Given the description of an element on the screen output the (x, y) to click on. 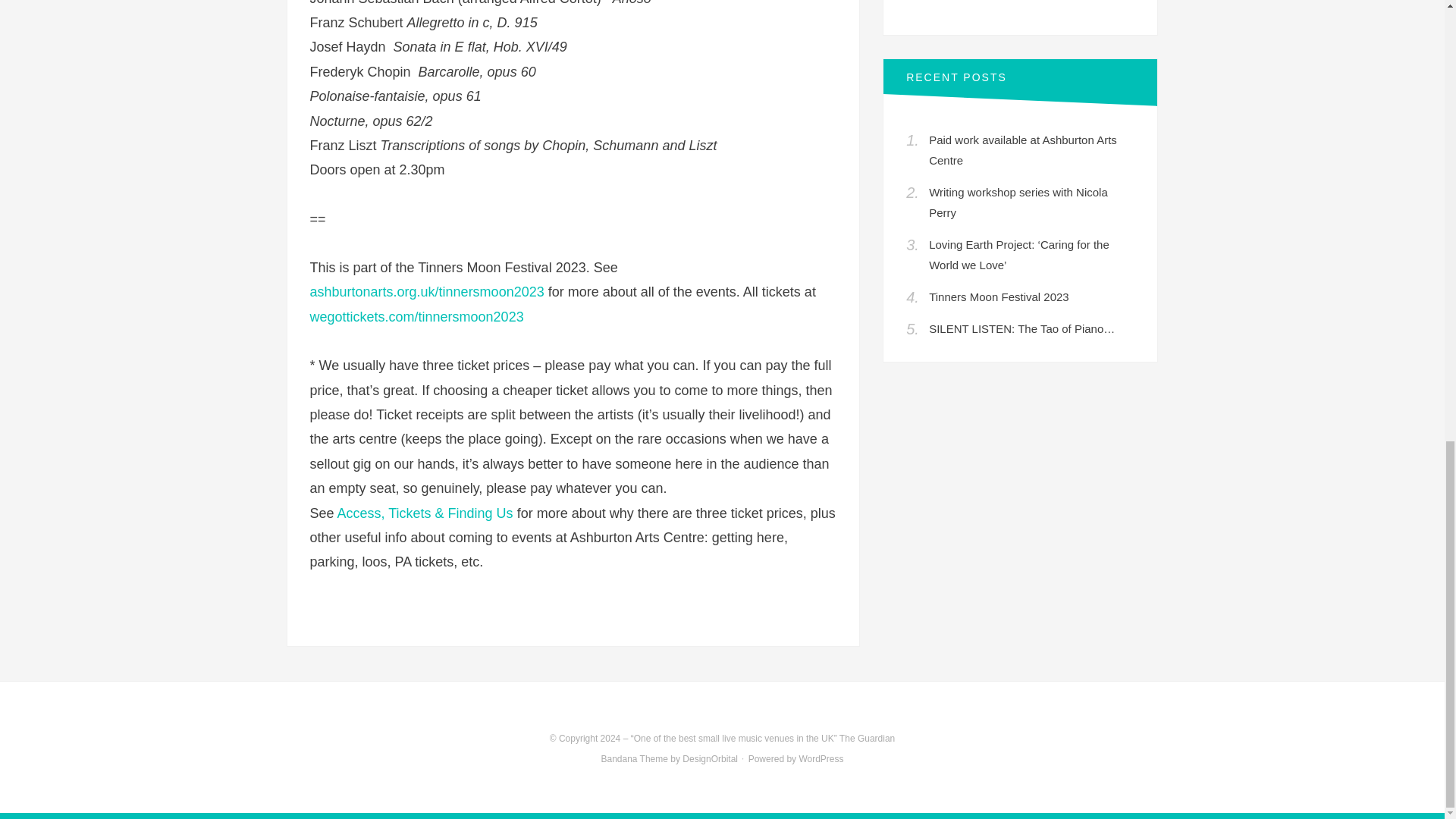
Paid work available at Ashburton Arts Centre (1022, 150)
Writing workshop series with Nicola Perry (1018, 202)
DesignOrbital (710, 758)
Tinners Moon Festival 2023 (998, 296)
WordPress (820, 758)
WordPress (820, 758)
DesignOrbital (710, 758)
